Given the description of an element on the screen output the (x, y) to click on. 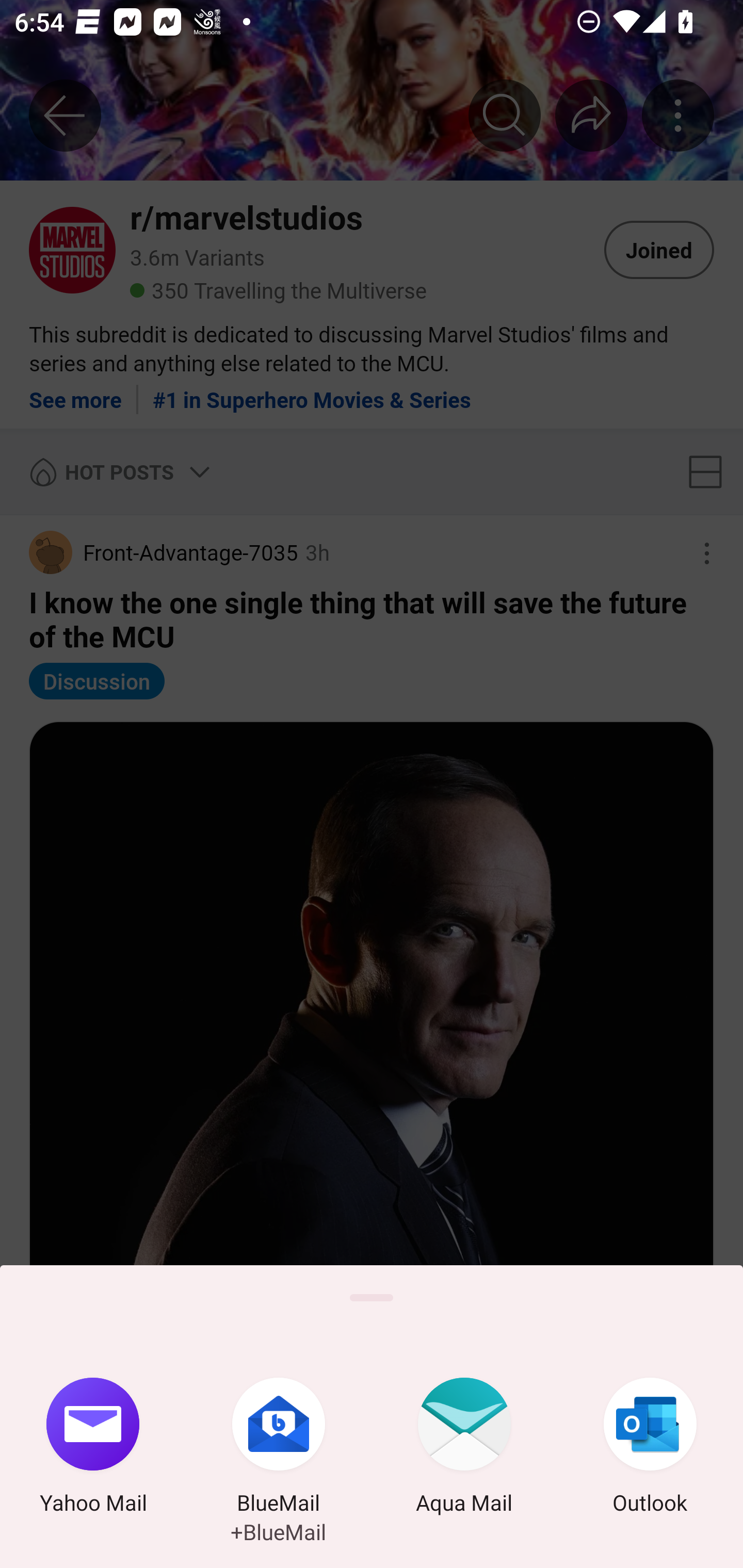
Yahoo Mail (92, 1448)
BlueMail +BlueMail (278, 1448)
Aqua Mail (464, 1448)
Outlook (650, 1448)
